Given the description of an element on the screen output the (x, y) to click on. 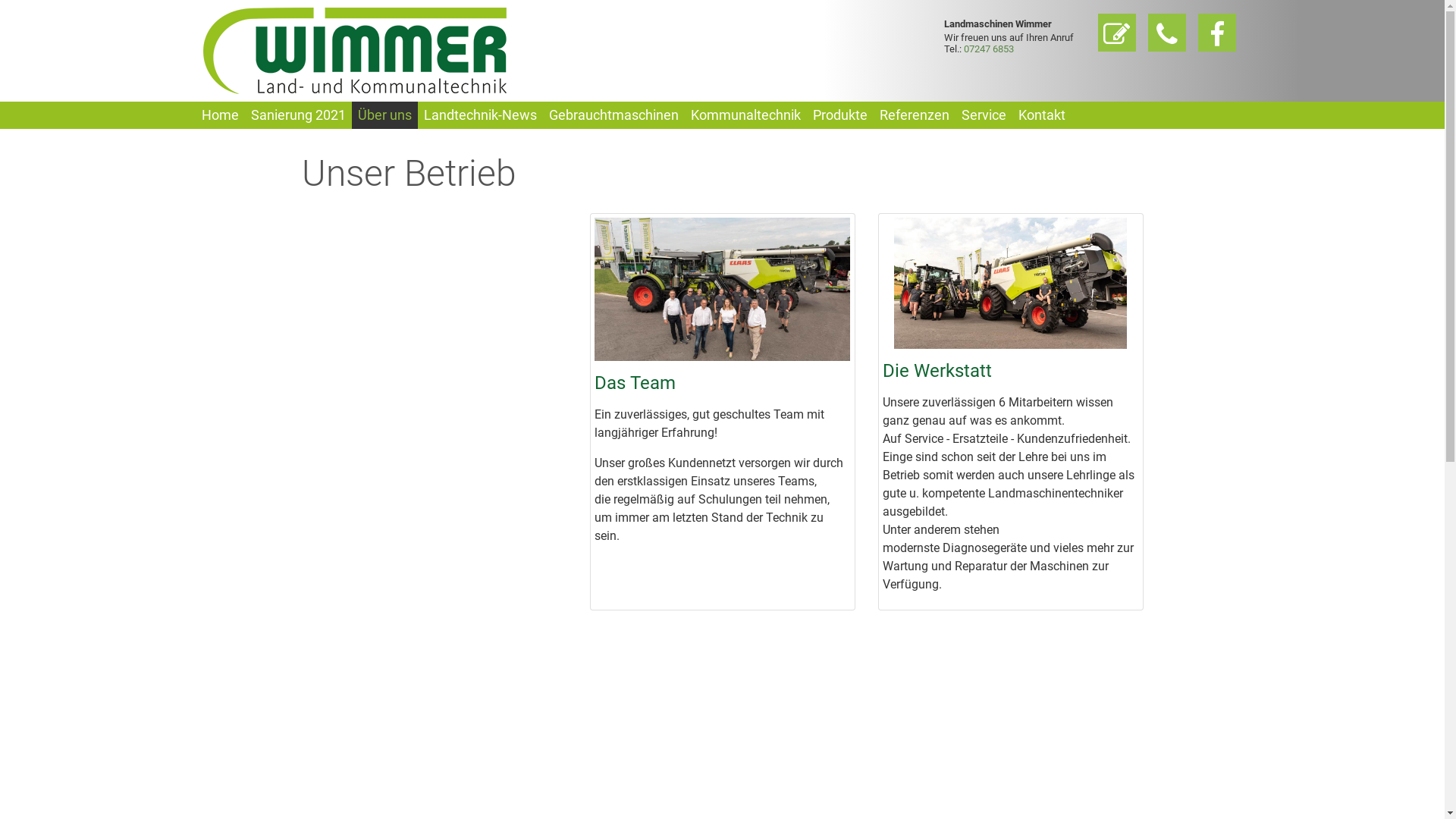
Gebrauchtmaschinen Element type: text (613, 114)
Home Element type: text (219, 114)
Service Element type: text (983, 114)
Referenzen Element type: text (914, 114)
Kommunaltechnik Element type: text (745, 114)
Landtechnik-News Element type: text (479, 114)
Produkte Element type: text (839, 114)
07247 6853 Element type: text (988, 48)
Kontakt Element type: text (1040, 114)
Sanierung 2021 Element type: text (297, 114)
